Given the description of an element on the screen output the (x, y) to click on. 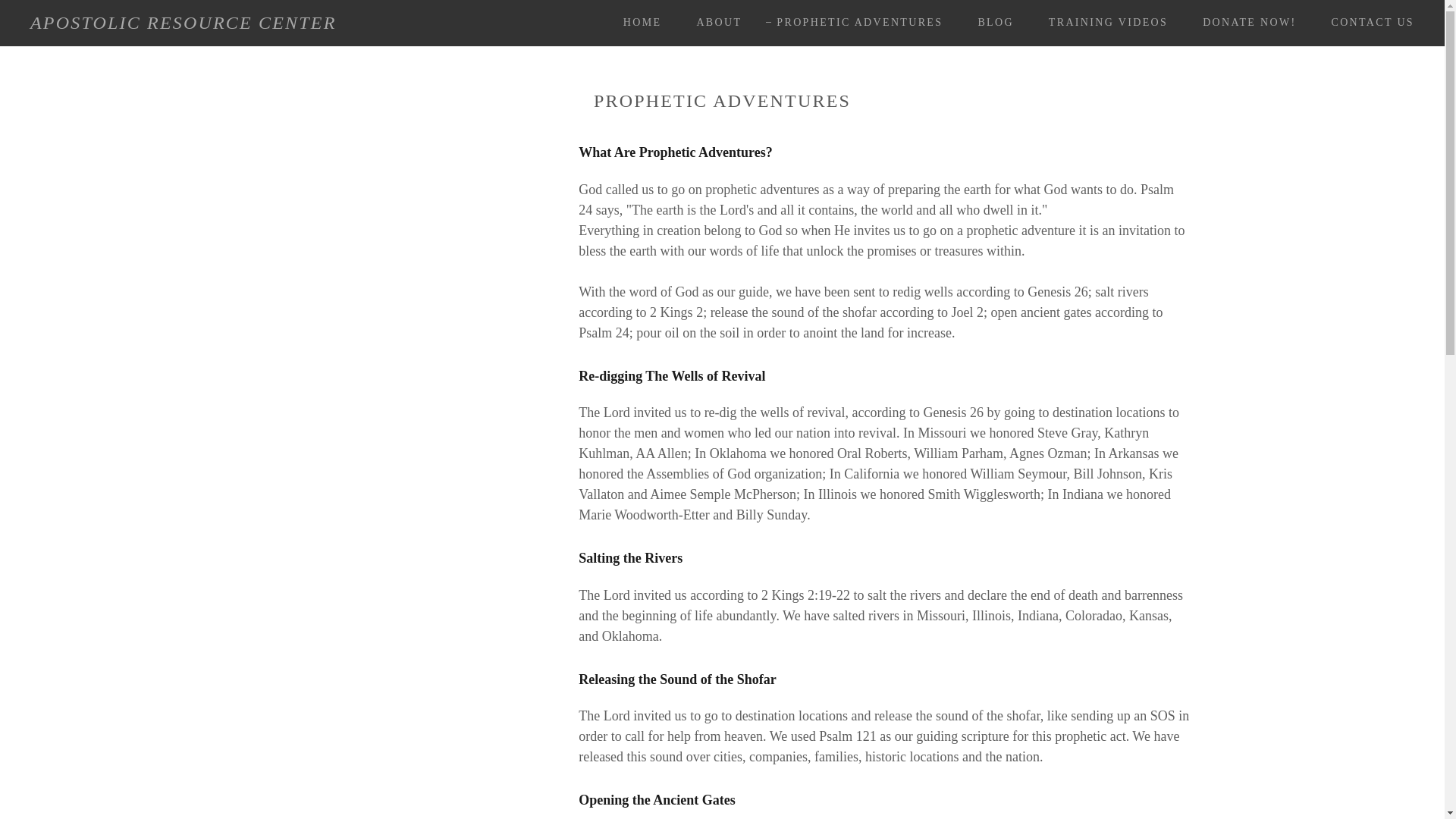
ABOUT (713, 22)
BLOG (989, 22)
HOME (637, 22)
DONATE NOW! (1244, 22)
TRAINING VIDEOS (1102, 22)
Apostolic Resource Center (183, 23)
APOSTOLIC RESOURCE CENTER (183, 23)
PROPHETIC ADVENTURES (853, 22)
CONTACT US (1367, 22)
